Given the description of an element on the screen output the (x, y) to click on. 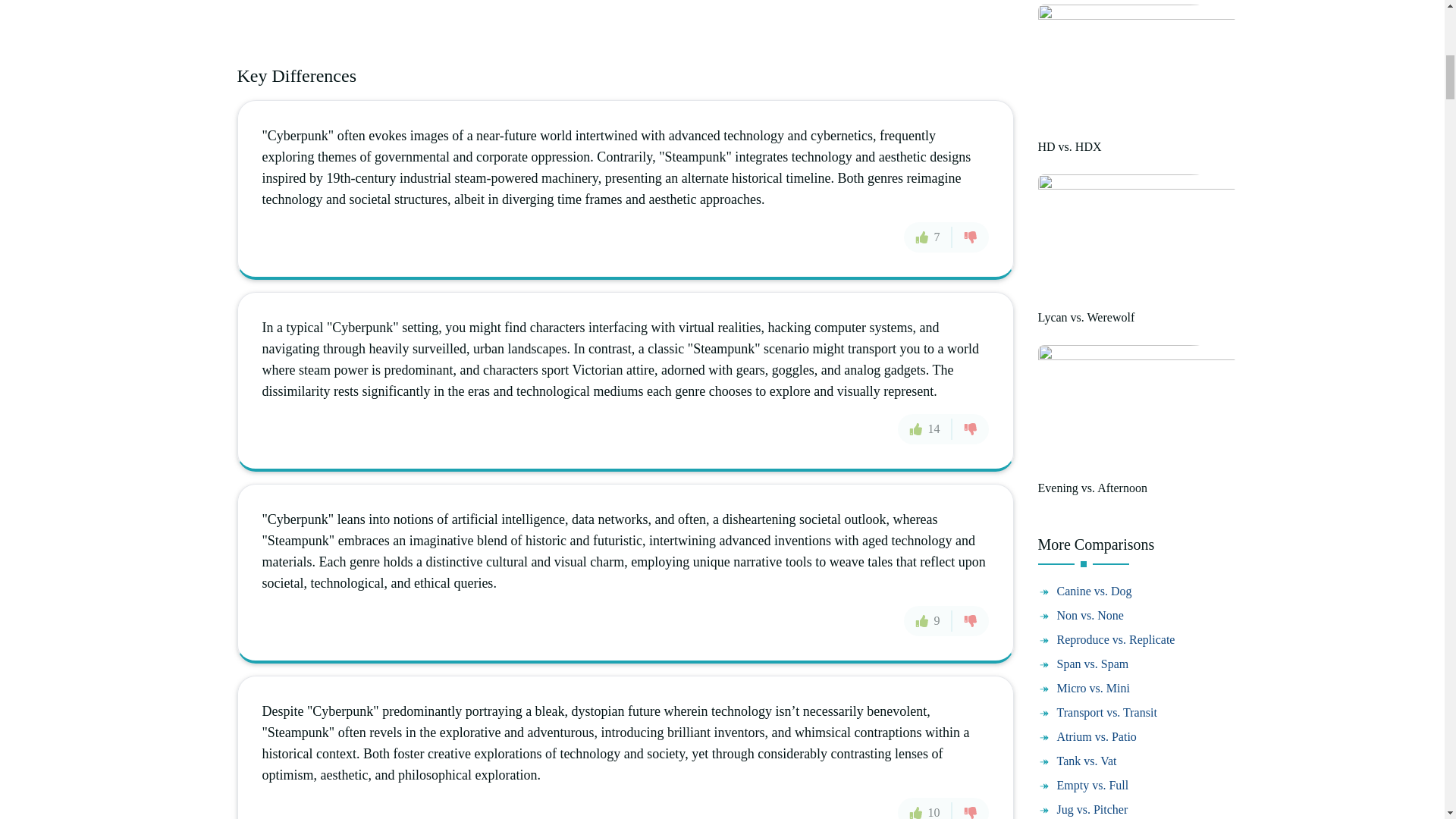
7 (928, 236)
9 (928, 621)
14 (925, 429)
10 (925, 808)
